Given the description of an element on the screen output the (x, y) to click on. 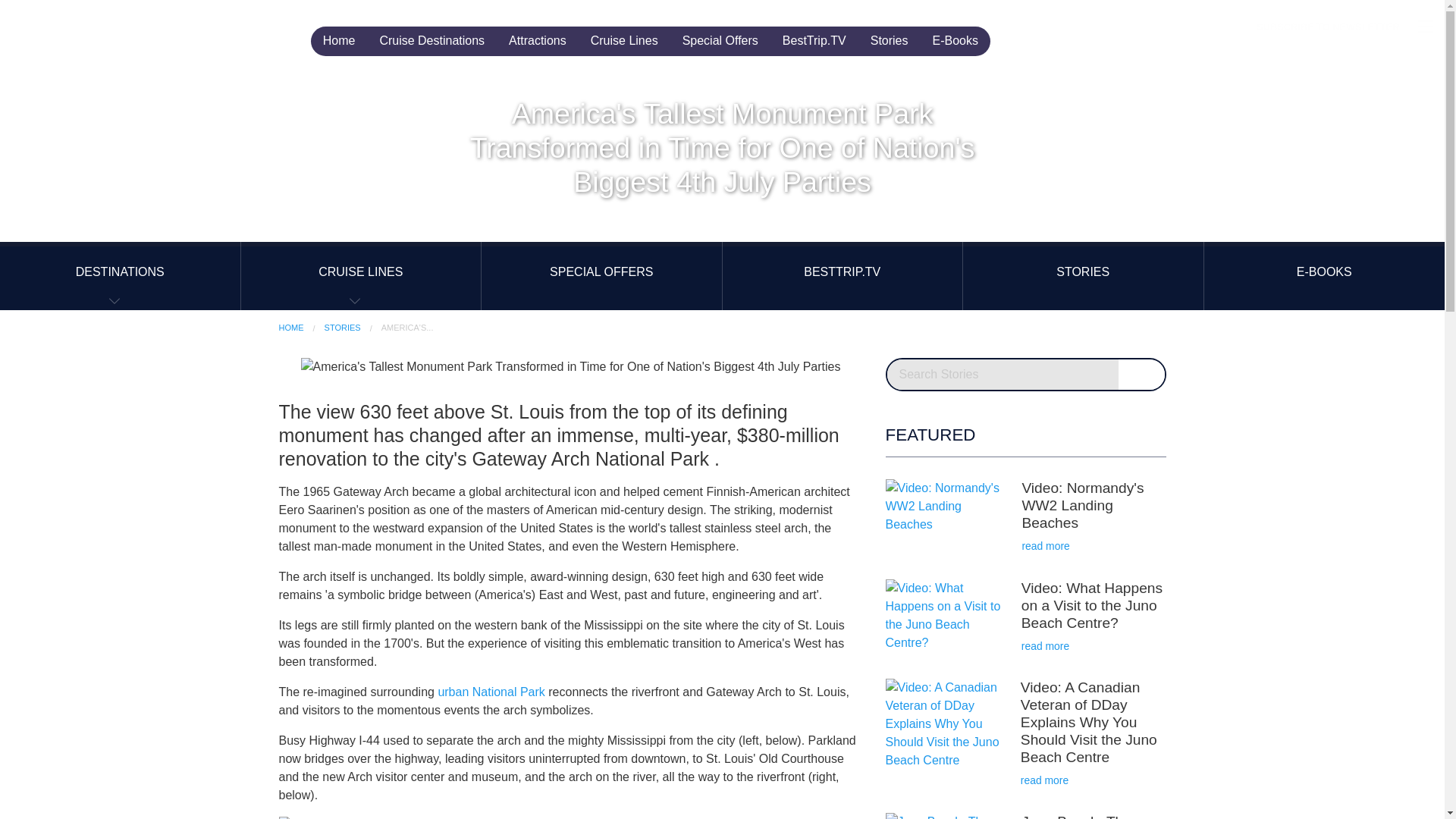
E-Books (955, 40)
SUBSCRIBE TO NEWSLETTER (1327, 27)
Cruise Lines (623, 40)
DESTINATIONS (120, 275)
888-550-8998 (1162, 28)
Stories (889, 40)
Home (339, 40)
CRUISE LINES (361, 275)
Special Offers (719, 40)
Bonaventure Travel YourCruiseTravelExpert (151, 26)
Attractions (537, 40)
Cruise Destinations (431, 40)
BestTrip.TV (814, 40)
